Given the description of an element on the screen output the (x, y) to click on. 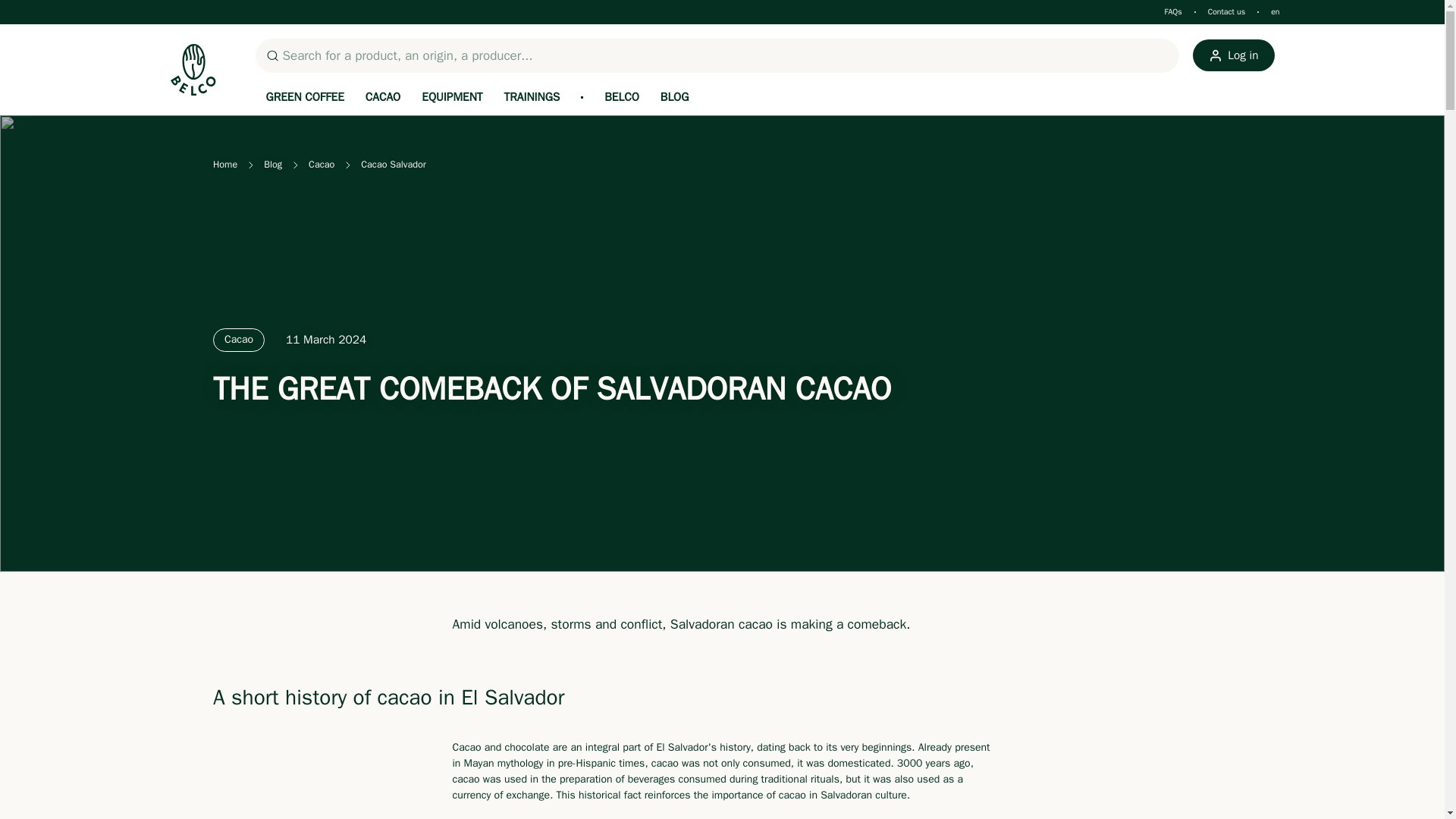
Search for a product, an origin, a producer... (716, 55)
BELCO (621, 97)
TRAININGS (531, 97)
de (45, 45)
fr (45, 19)
BLOG (674, 97)
EQUIPMENT (451, 97)
Contact us (1227, 11)
en (1275, 11)
FAQs (1171, 11)
